Given the description of an element on the screen output the (x, y) to click on. 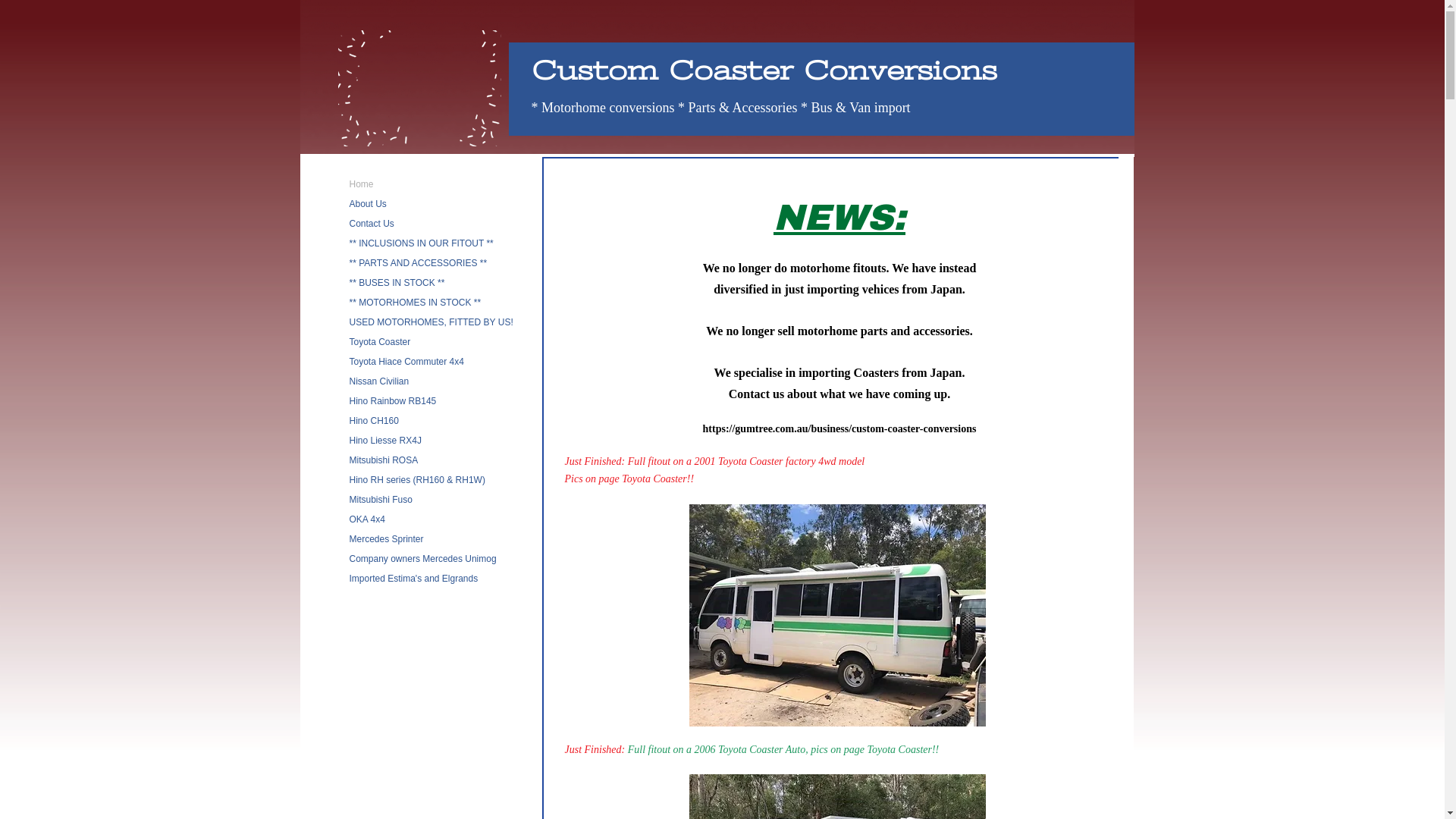
** PARTS AND ACCESSORIES ** Element type: text (417, 263)
OKA 4x4 Element type: text (366, 519)
About Us Element type: text (367, 204)
Company owners Mercedes Unimog Element type: text (422, 558)
Toyota Hiace Commuter 4x4 Element type: text (405, 361)
Mercedes Sprinter Element type: text (385, 539)
Hino Liesse RX4J Element type: text (384, 440)
** MOTORHOMES IN STOCK ** Element type: text (414, 302)
USED MOTORHOMES, FITTED BY US! Element type: text (430, 322)
Hino Rainbow RB145 Element type: text (392, 401)
Mitsubishi ROSA Element type: text (383, 460)
Nissan Civilian Element type: text (378, 381)
Mitsubishi Fuso Element type: text (380, 499)
** INCLUSIONS IN OUR FITOUT ** Element type: text (420, 243)
Contact Us Element type: text (371, 223)
Imported Estima's and Elgrands Element type: text (413, 578)
https://gumtree.com.au/business/custom-coaster-conversions Element type: text (839, 428)
Hino RH series (RH160 & RH1W) Element type: text (416, 480)
** BUSES IN STOCK ** Element type: text (396, 282)
Toyota Coaster Element type: text (379, 342)
Hino CH160 Element type: text (373, 420)
Home Element type: text (360, 184)
